Given the description of an element on the screen output the (x, y) to click on. 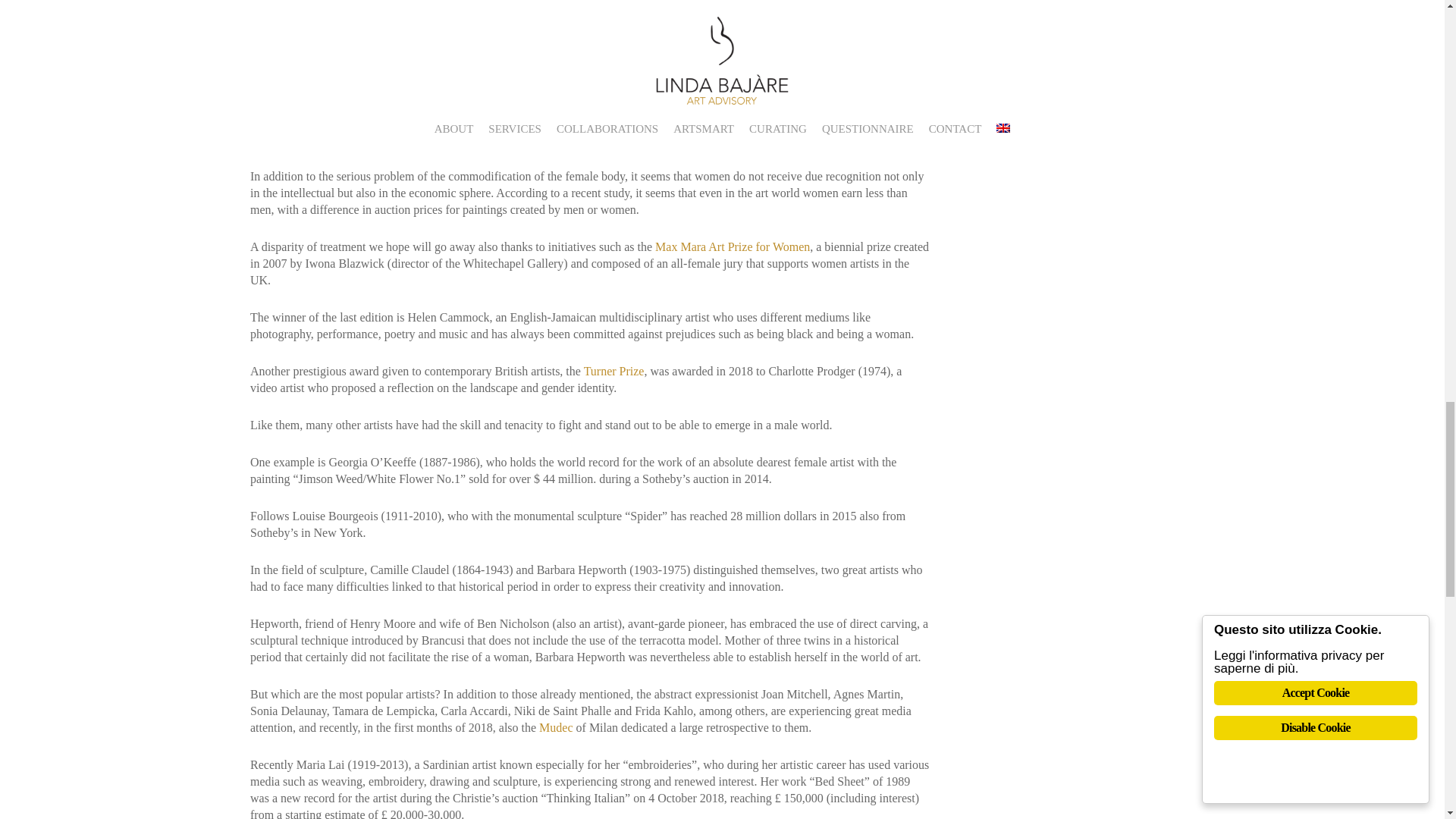
Max Mara Art Prize for Women (732, 246)
Mudec (555, 727)
Turner Prize (614, 370)
